Given the description of an element on the screen output the (x, y) to click on. 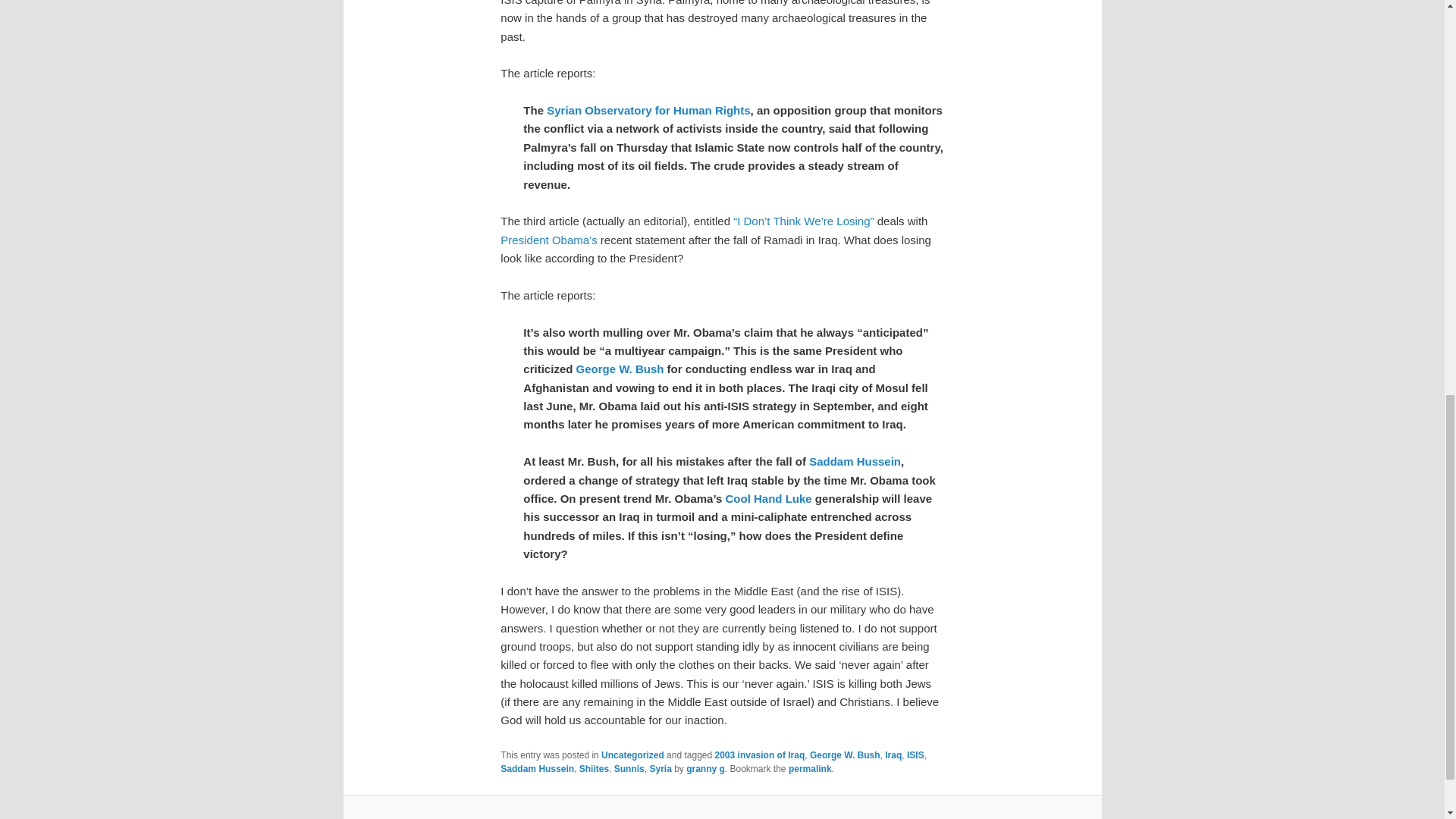
Syrian Observatory for Human Rights (648, 110)
George W. Bush (619, 368)
Shiites (593, 768)
Syria (660, 768)
George W. Bush (844, 755)
Cool Hand Luke (768, 498)
Saddam Hussein (855, 461)
ISIS (915, 755)
2003 invasion of Iraq (759, 755)
Uncategorized (632, 755)
Iraq (893, 755)
George W. Bush (619, 368)
granny g (705, 768)
Barack Obama (548, 239)
Syrian Observatory for Human Rights (648, 110)
